Given the description of an element on the screen output the (x, y) to click on. 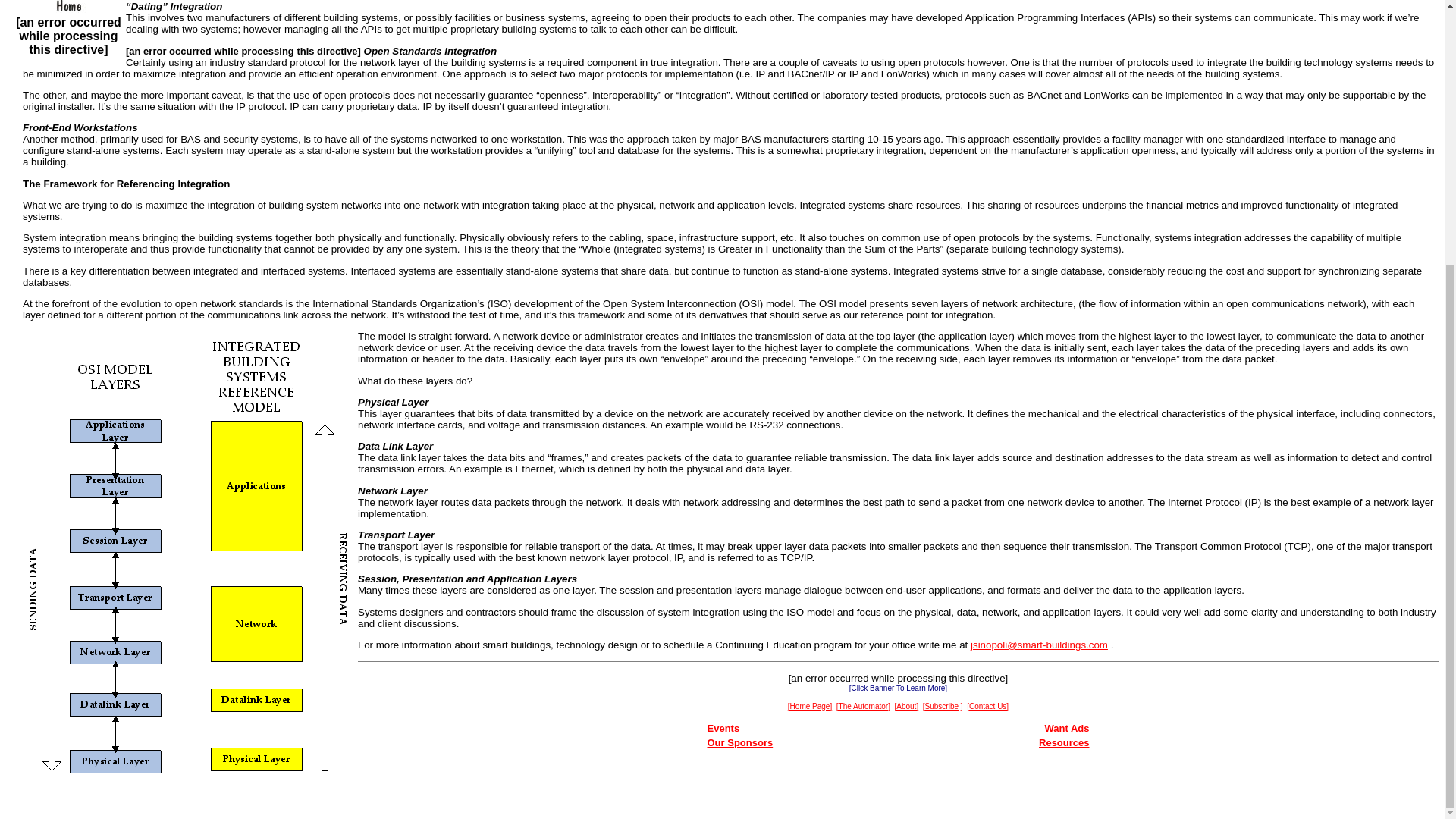
Resources (1064, 742)
Subscribe (941, 705)
Want Ads (1067, 727)
Advertisement (897, 790)
Events (722, 727)
Our Sponsors (739, 742)
